Given the description of an element on the screen output the (x, y) to click on. 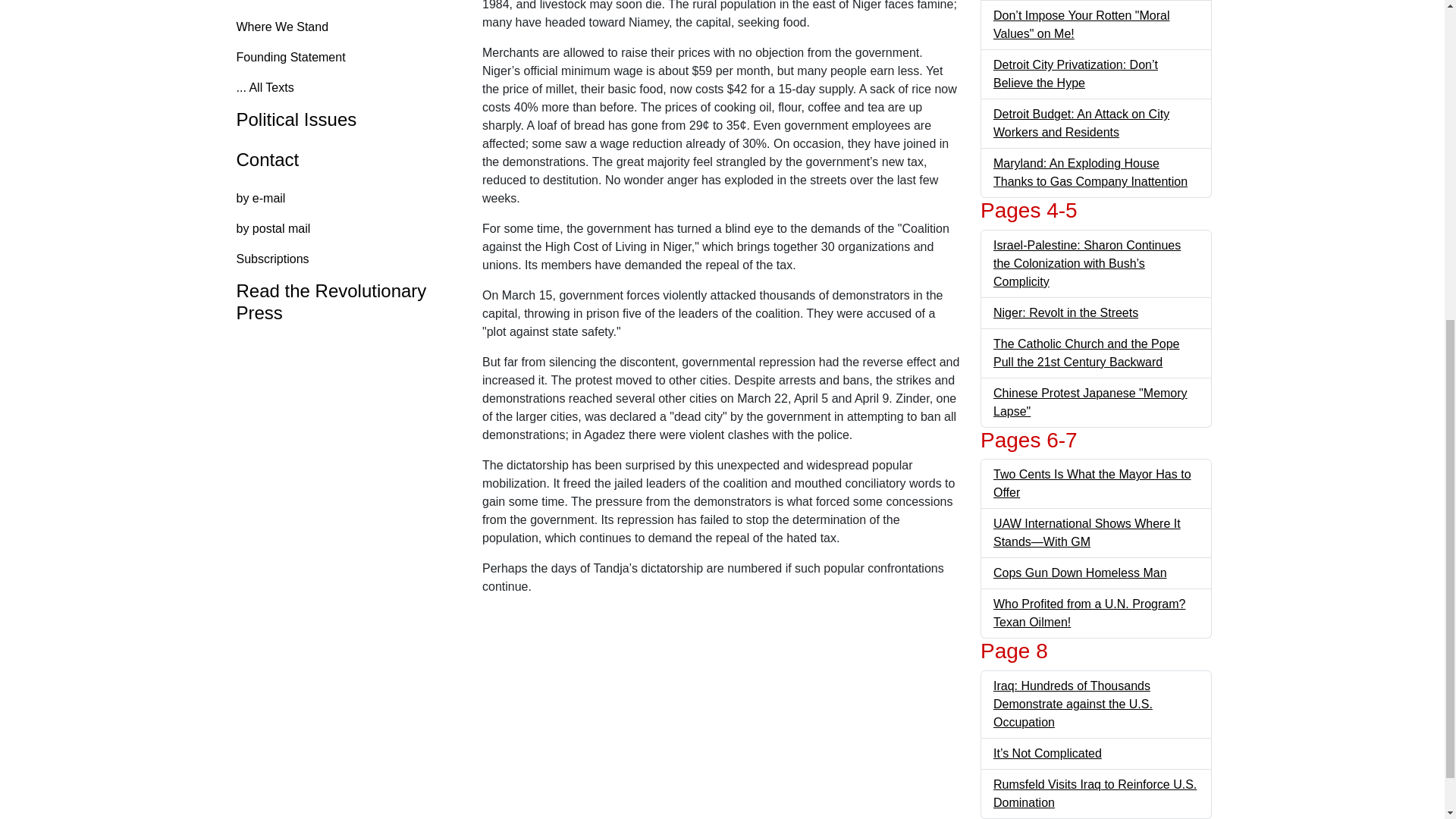
Founding Statement (344, 57)
by e-mail (344, 198)
Revolutionary Publications from Other Countries (344, 302)
Political Issues (344, 120)
Contact (344, 160)
Where We Stand (344, 27)
Postal mail addresses (344, 228)
Subscriptions (344, 259)
Niger: Revolt in the Streets (1065, 312)
Basic Texts (344, 3)
Detroit Budget: An Attack on City Workers and Residents (1080, 122)
Subscription Information (344, 259)
... All Texts (344, 87)
e-mail (344, 198)
